Given the description of an element on the screen output the (x, y) to click on. 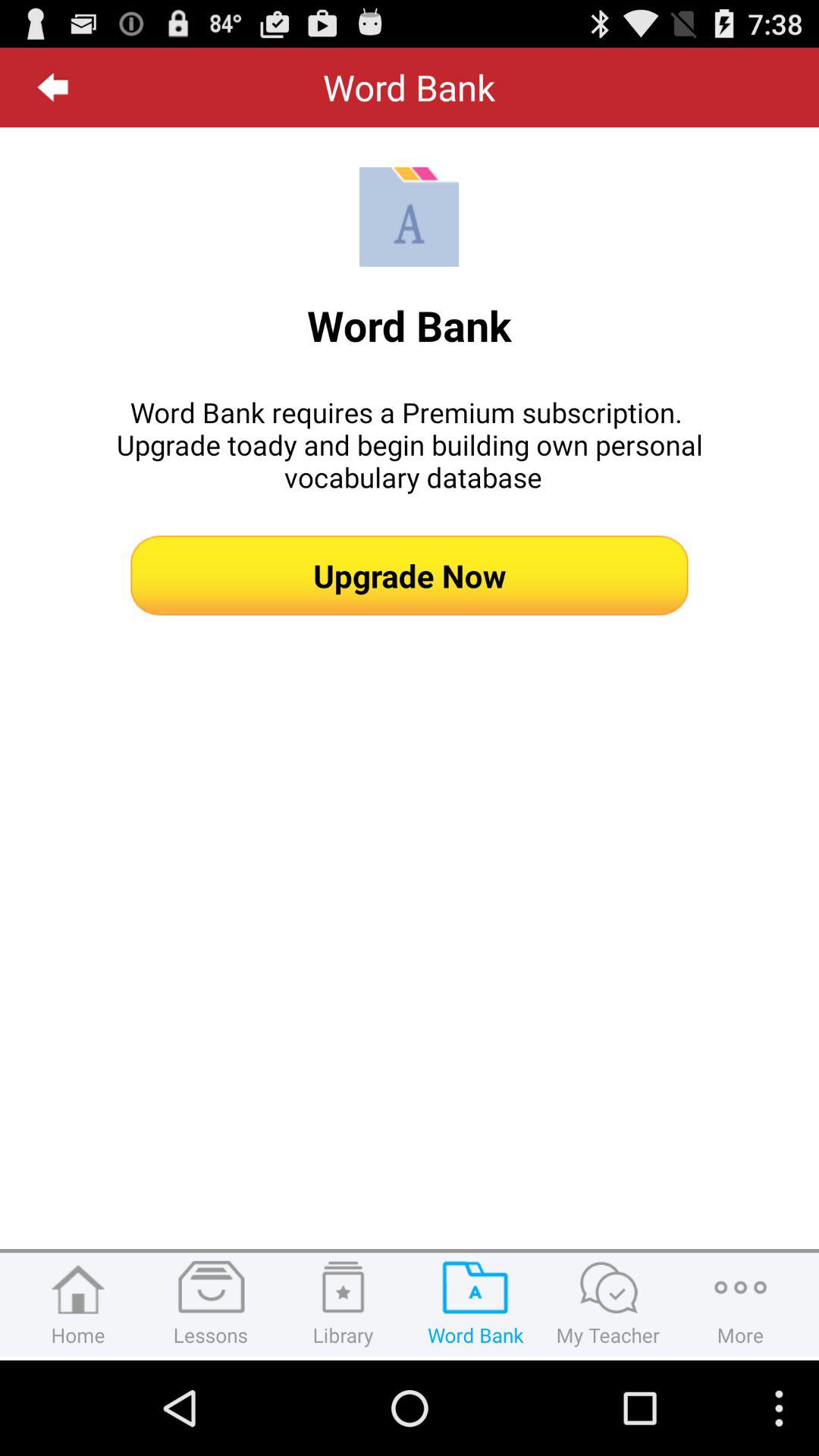
tap the upgrade now button (409, 575)
